Given the description of an element on the screen output the (x, y) to click on. 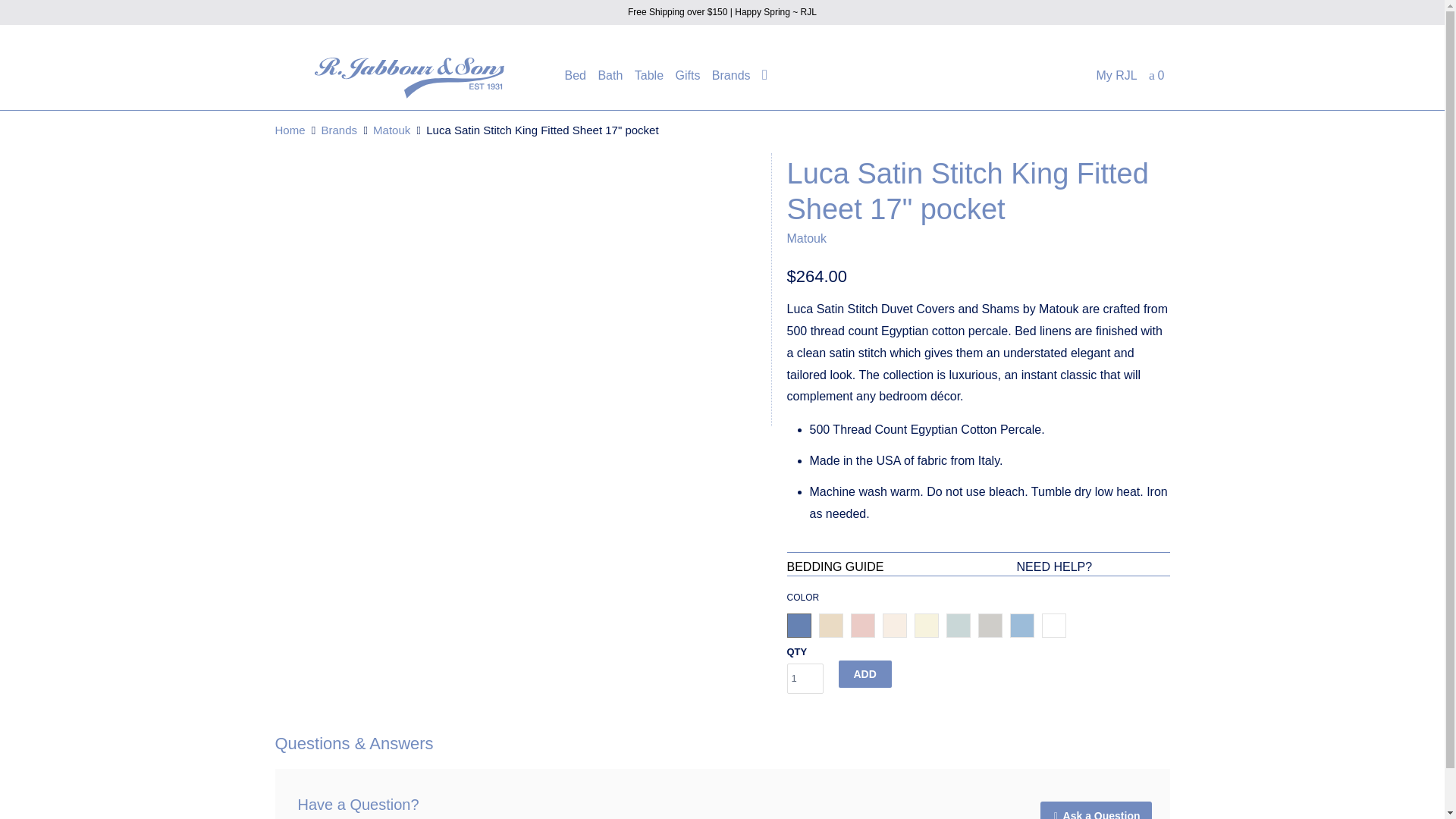
Jabbour Linens (409, 77)
Matouk (807, 237)
Jabbour Linens (289, 129)
Matouk (391, 129)
My RJL  (1116, 79)
brands (339, 129)
1 (805, 678)
